Given the description of an element on the screen output the (x, y) to click on. 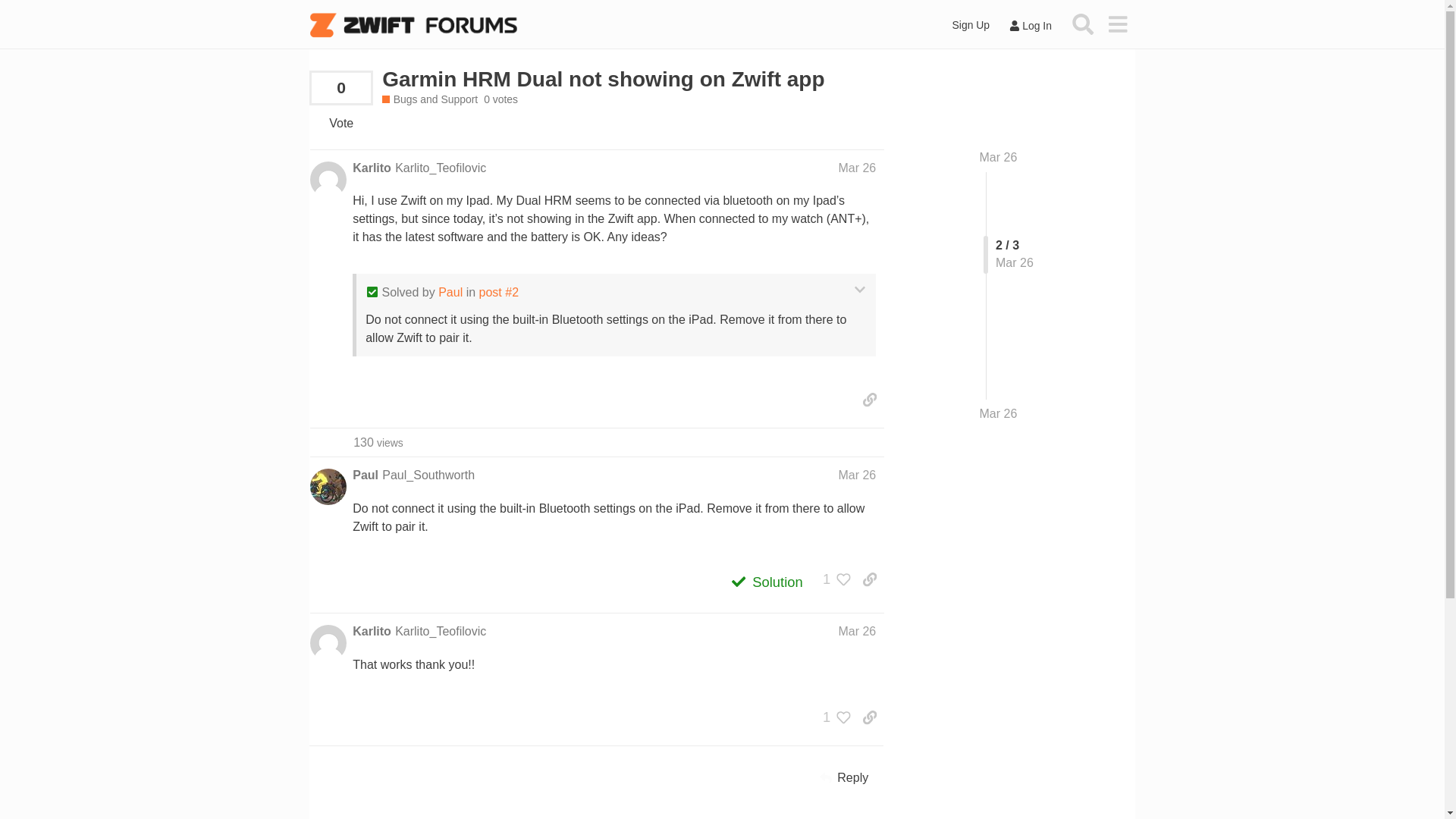
Garmin HRM Dual not showing on Zwift app (602, 78)
Post date (857, 167)
Sign Up (969, 25)
Paul (365, 475)
Karlito (371, 167)
0 votes (500, 99)
1 (832, 582)
Search (1082, 23)
Jump to the last post (998, 413)
